Given the description of an element on the screen output the (x, y) to click on. 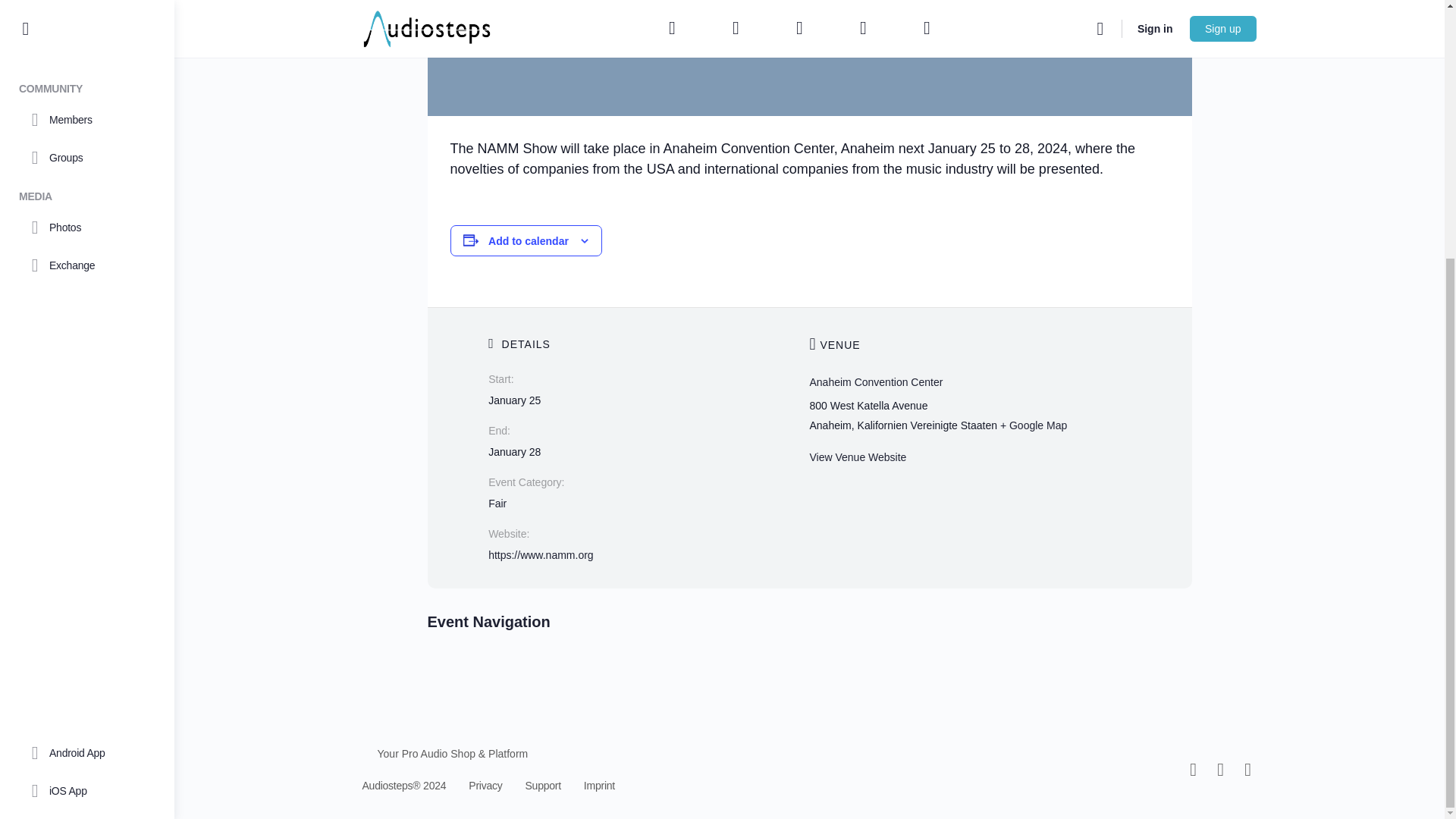
2024-01-28 (513, 451)
2024-01-25 (513, 399)
Click to view a Google Map (1033, 425)
iOS App (86, 421)
Add to calendar (528, 241)
Kalifornien (882, 425)
Android App (86, 383)
